Given the description of an element on the screen output the (x, y) to click on. 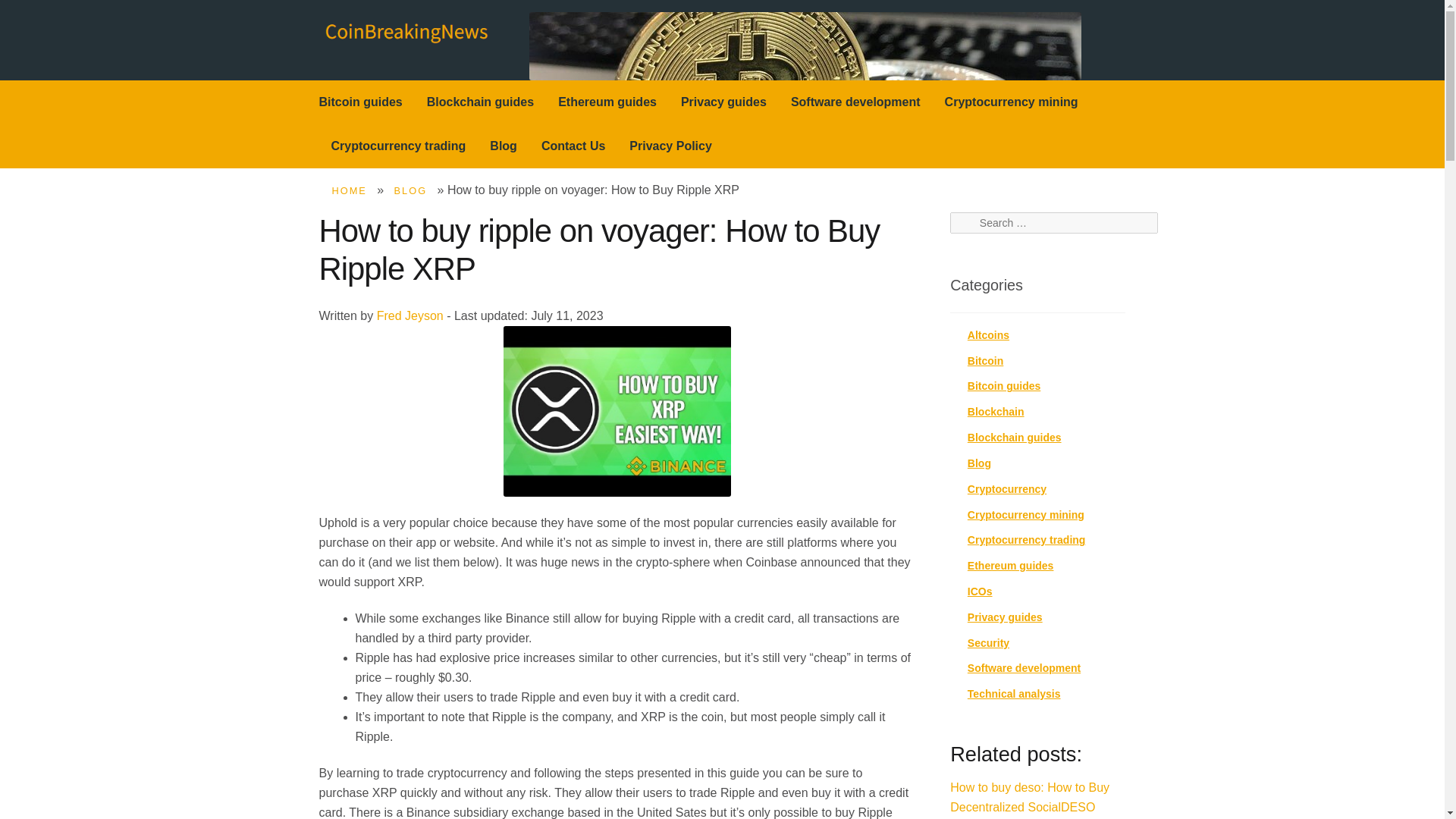
ICOs (980, 591)
Blog (979, 463)
Cryptocurrency trading (1027, 539)
Search (972, 223)
Cryptocurrency mining (1026, 514)
Bitcoin guides (1004, 386)
Bitcoin guides (360, 102)
Privacy guides (723, 102)
Blog (503, 146)
